Given the description of an element on the screen output the (x, y) to click on. 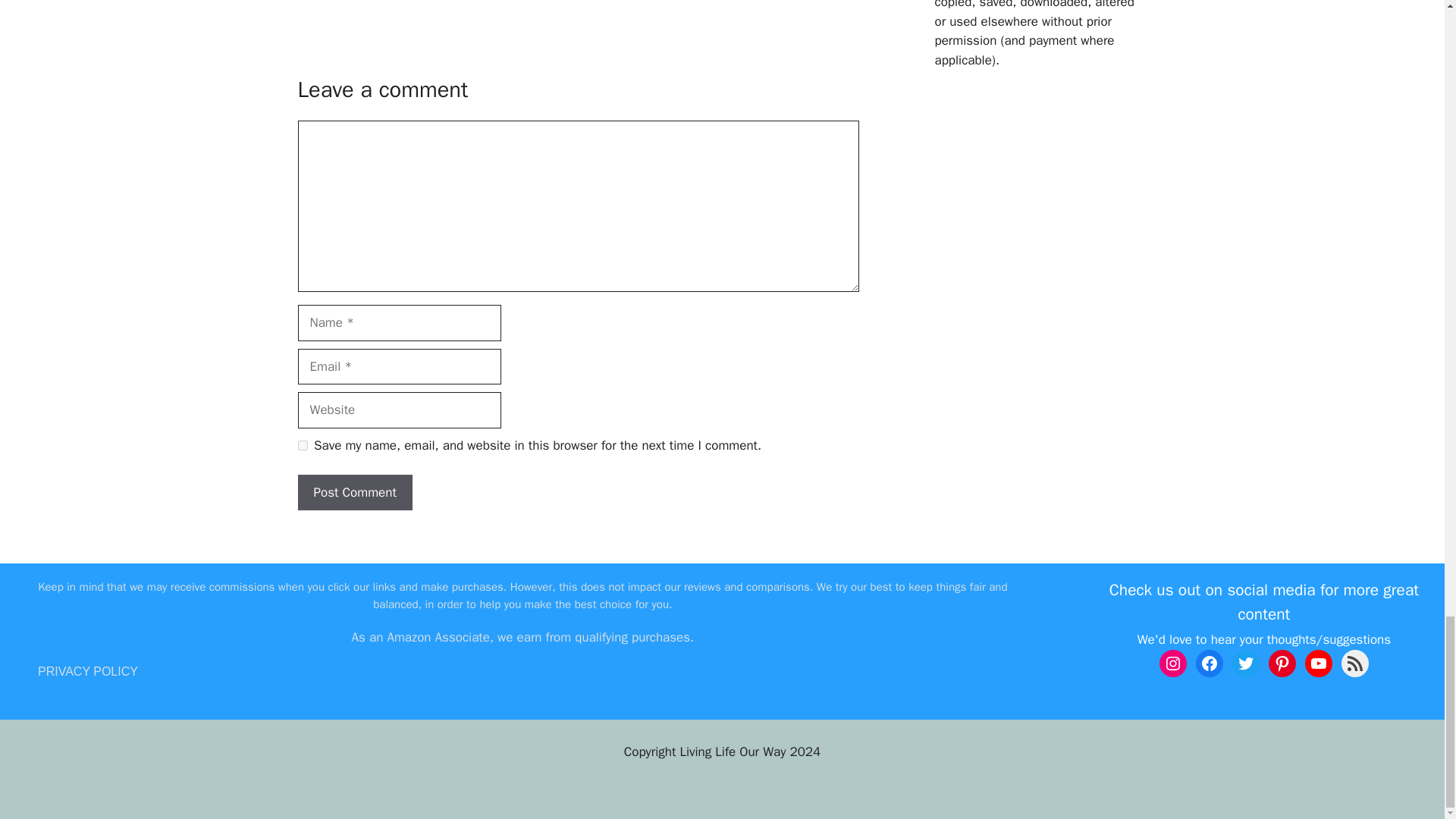
yes (302, 445)
Post Comment (354, 493)
Post Comment (354, 493)
Instagram (1172, 663)
PRIVACY POLICY (87, 671)
